Given the description of an element on the screen output the (x, y) to click on. 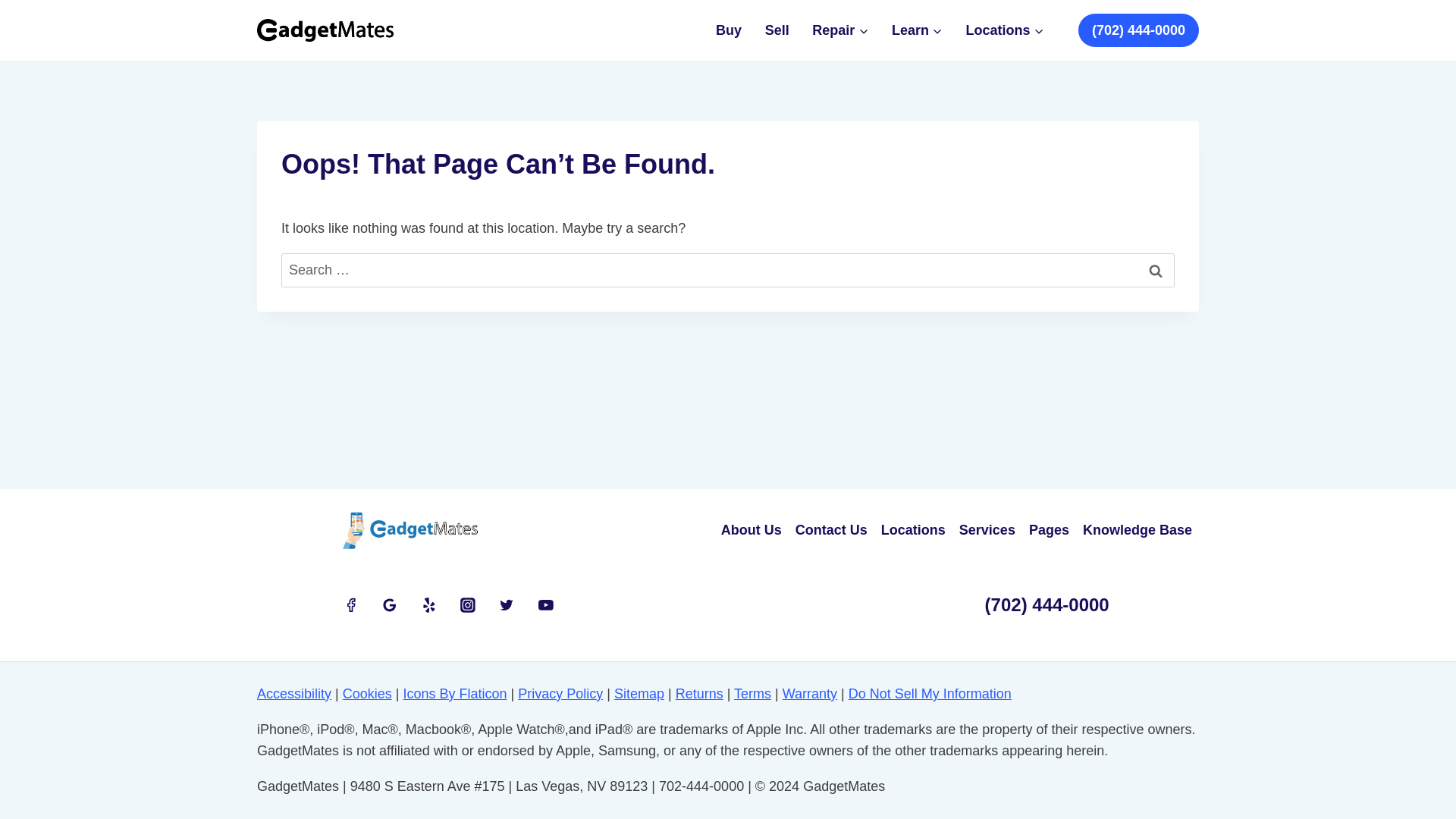
Search (1155, 270)
About Us (751, 529)
Locations (913, 529)
Contact Us (832, 529)
Locations (1004, 30)
Learn (917, 30)
Buy (729, 30)
Search (1155, 270)
Search (1155, 270)
Pages (1048, 529)
